Given the description of an element on the screen output the (x, y) to click on. 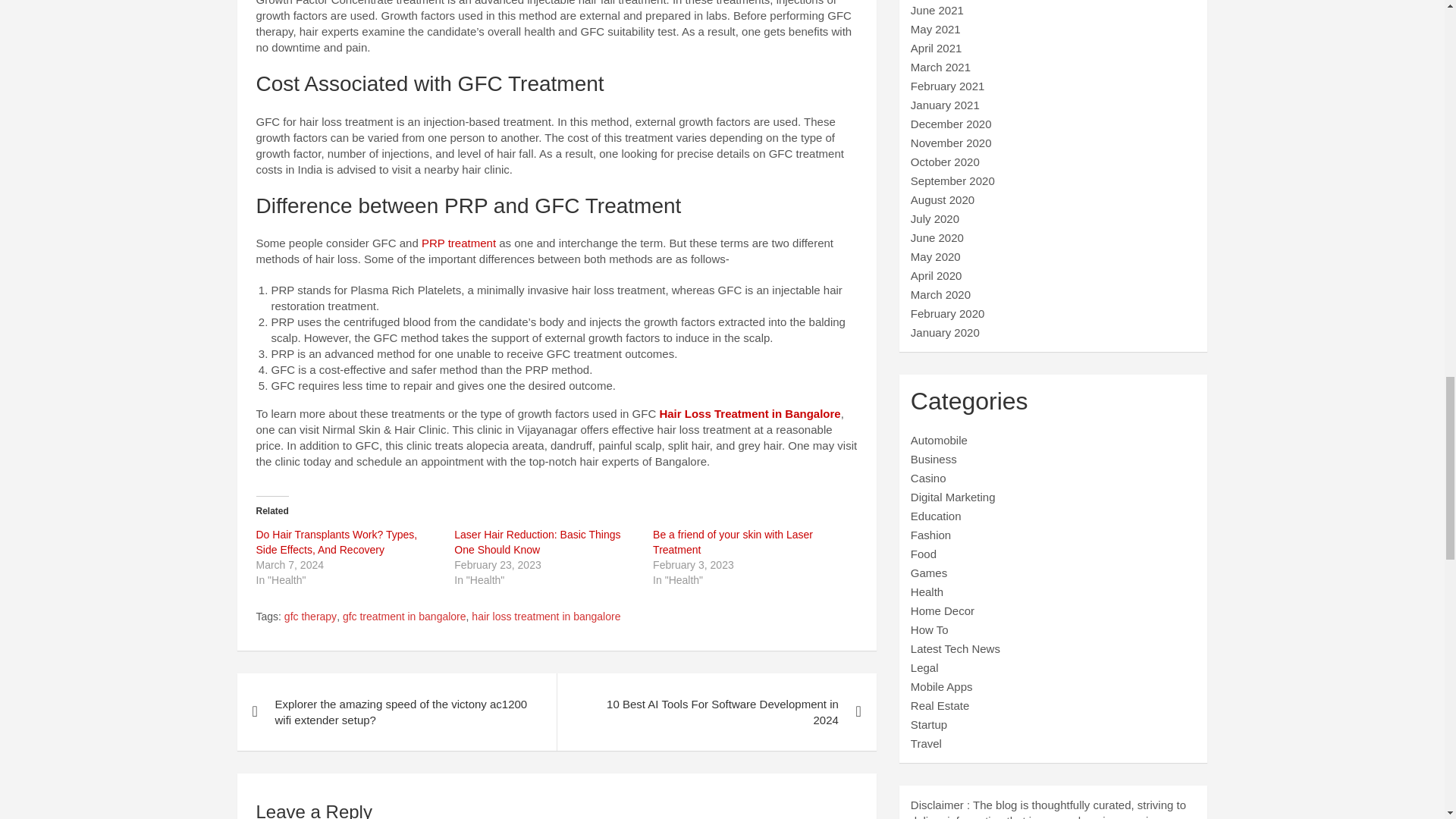
Do Hair Transplants Work? Types, Side Effects, And Recovery (336, 541)
Hair Loss Treatment in Bangalore (749, 413)
hair loss treatment in bangalore (545, 616)
PRP treatment (459, 242)
Be a friend of your skin with Laser Treatment (732, 541)
Do Hair Transplants Work? Types, Side Effects, And Recovery (336, 541)
gfc therapy (309, 616)
gfc treatment in bangalore (403, 616)
Laser Hair Reduction: Basic Things One Should Know (537, 541)
Laser Hair Reduction: Basic Things One Should Know (537, 541)
Be a friend of your skin with Laser Treatment (732, 541)
